Given the description of an element on the screen output the (x, y) to click on. 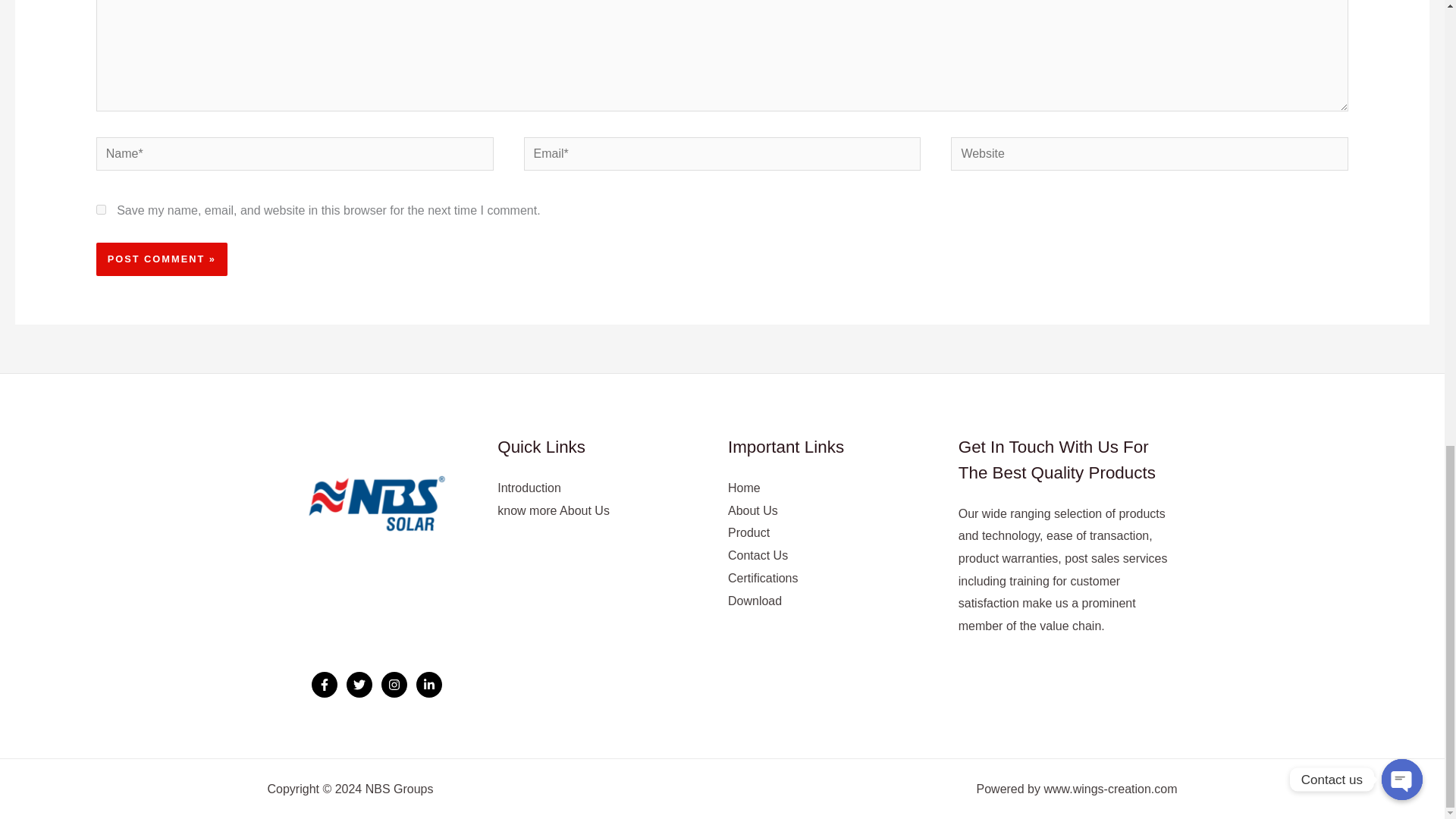
Home (744, 487)
About Us (752, 510)
Product (749, 532)
Introduction (528, 487)
yes (101, 209)
know more About Us (553, 510)
